Given the description of an element on the screen output the (x, y) to click on. 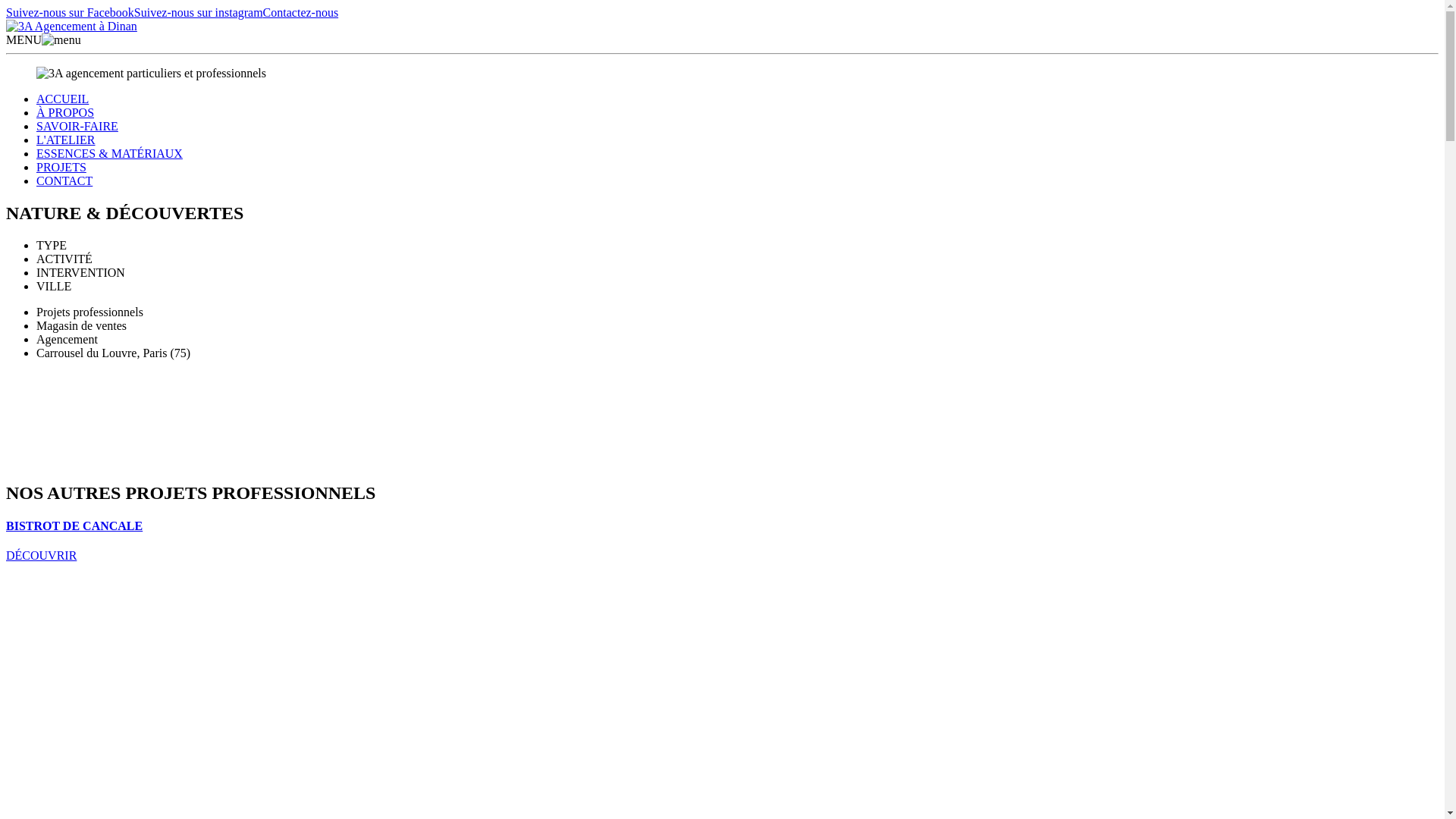
MENU Element type: text (43, 39)
Contactez-nous Element type: text (300, 12)
L'ATELIER Element type: text (65, 139)
Suivez-nous sur instagram Element type: text (198, 12)
PROJETS Element type: text (61, 166)
ACCUEIL Element type: text (62, 98)
SAVOIR-FAIRE Element type: text (77, 125)
Suivez-nous sur Facebook Element type: text (70, 12)
CONTACT Element type: text (64, 180)
